Given the description of an element on the screen output the (x, y) to click on. 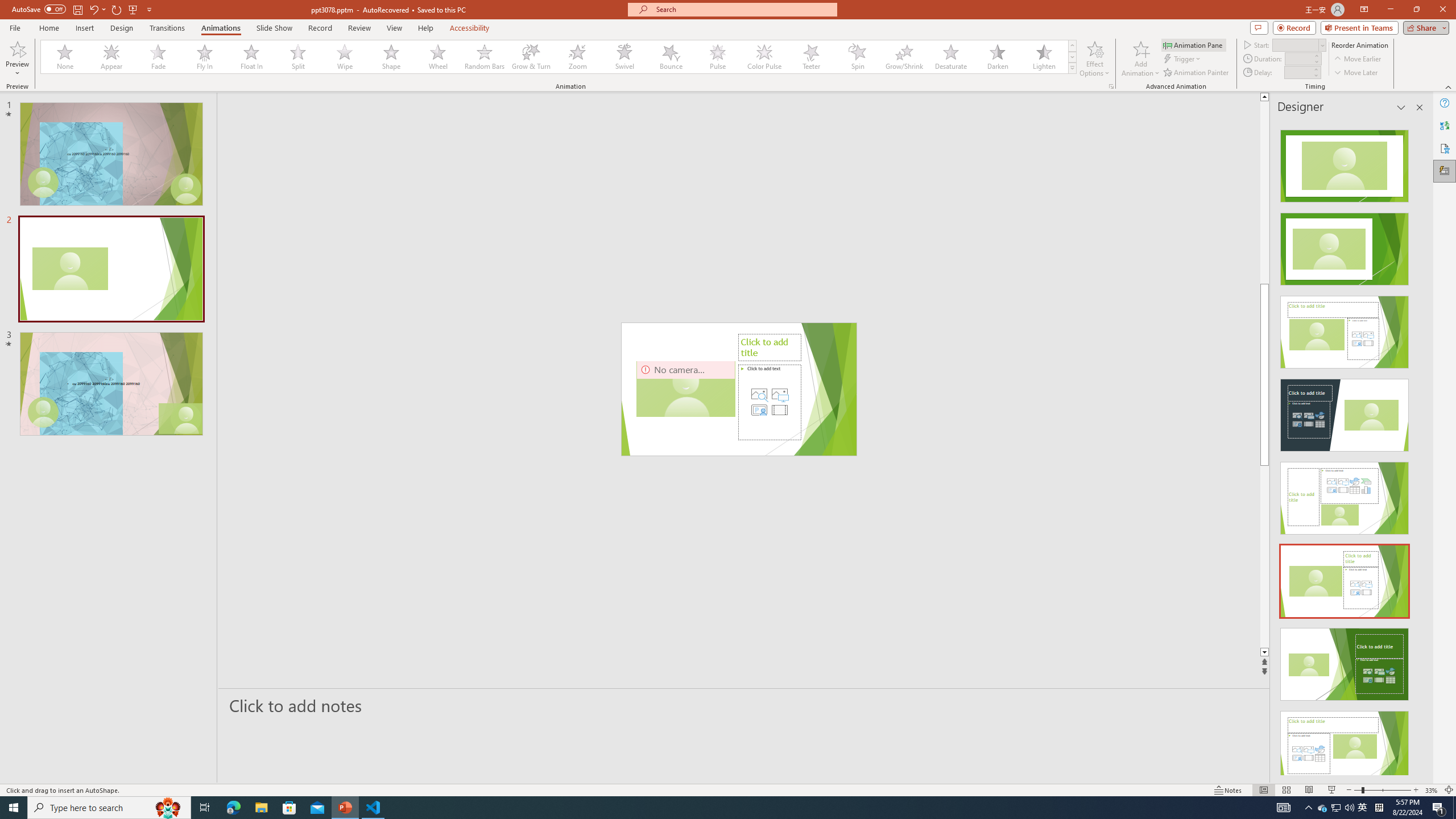
Page up (1302, 192)
Bounce (670, 56)
Shape (391, 56)
Add Animation (1141, 58)
Color Pulse (764, 56)
Fade (158, 56)
Appear (111, 56)
Pictures (779, 394)
Split (298, 56)
